Given the description of an element on the screen output the (x, y) to click on. 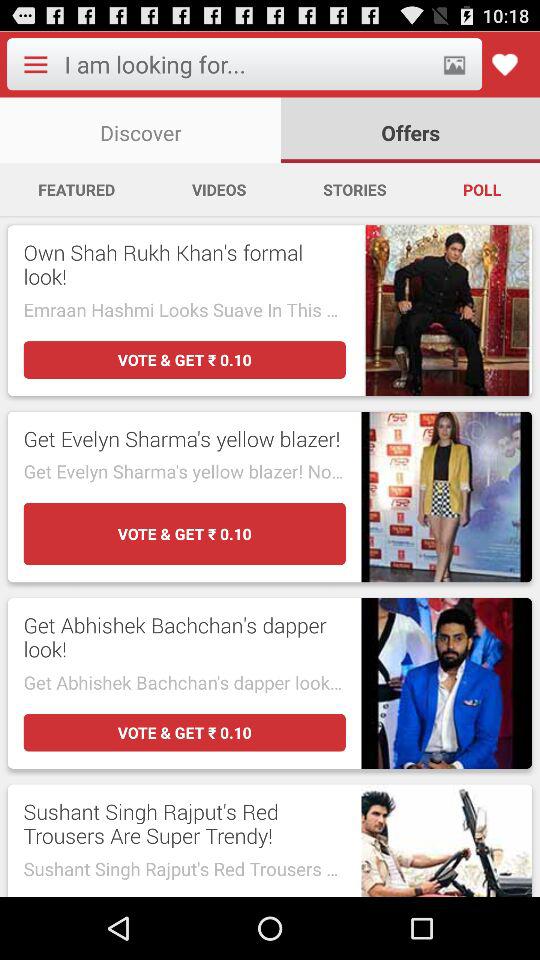
search by photos (453, 63)
